Given the description of an element on the screen output the (x, y) to click on. 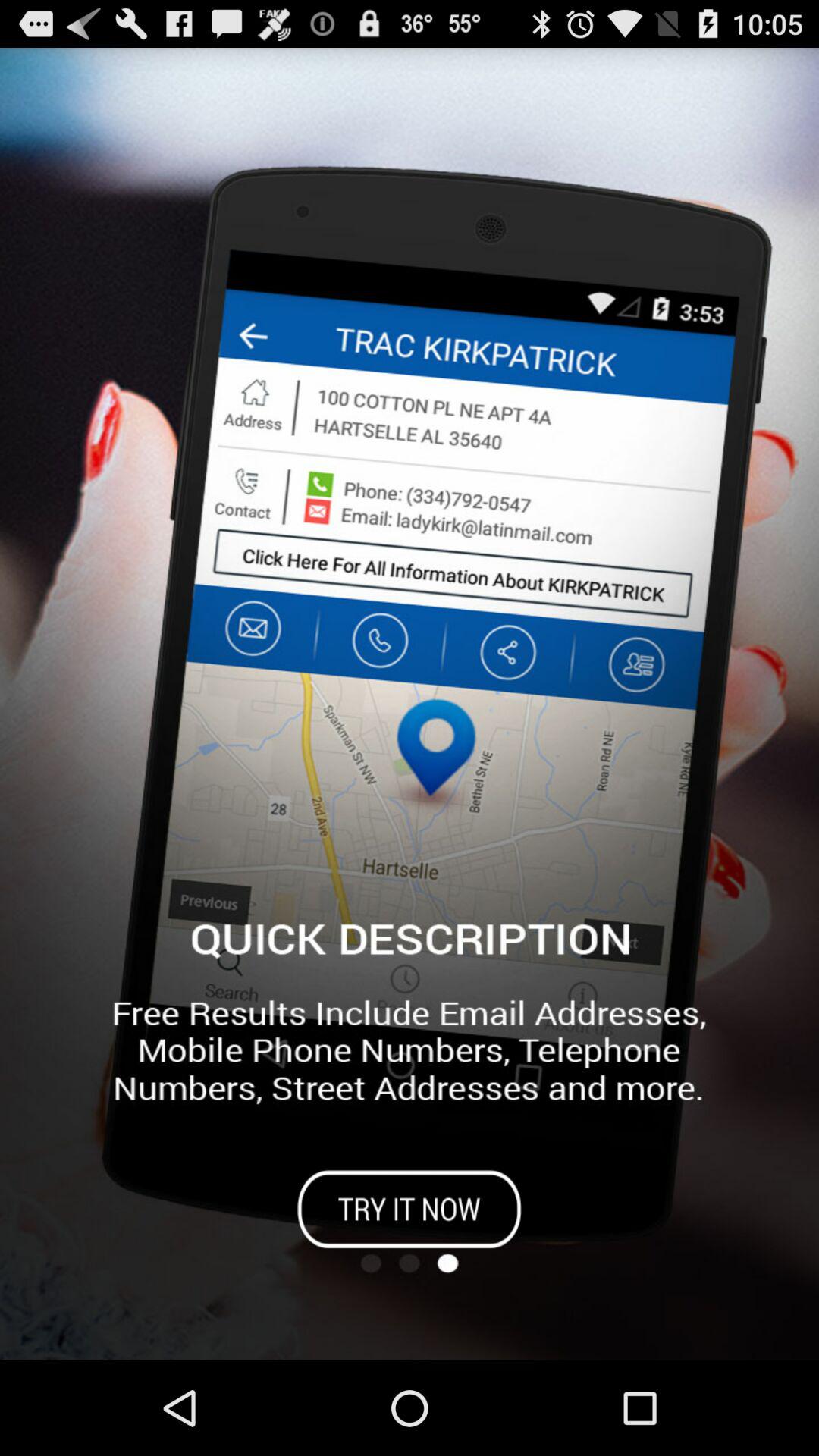
enter button (409, 1208)
